Given the description of an element on the screen output the (x, y) to click on. 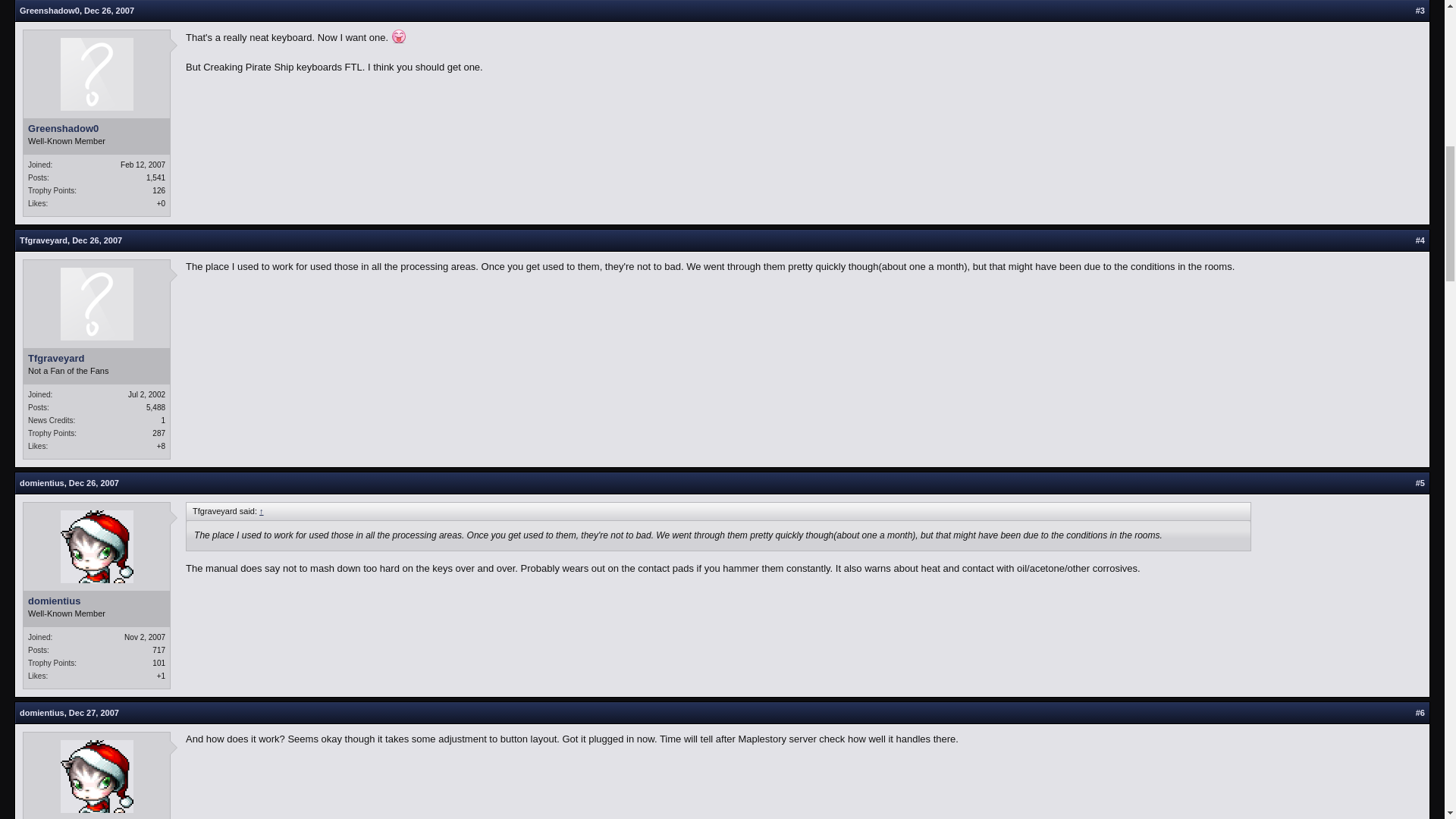
Permalink (96, 239)
126 (158, 190)
Permalink (108, 10)
1,541 (156, 177)
Permalink (93, 712)
Stick Out Tongue    :p (398, 36)
Greenshadow0 (50, 10)
Permalink (93, 482)
Dec 26, 2007 (108, 10)
Greenshadow0 (96, 128)
